Given the description of an element on the screen output the (x, y) to click on. 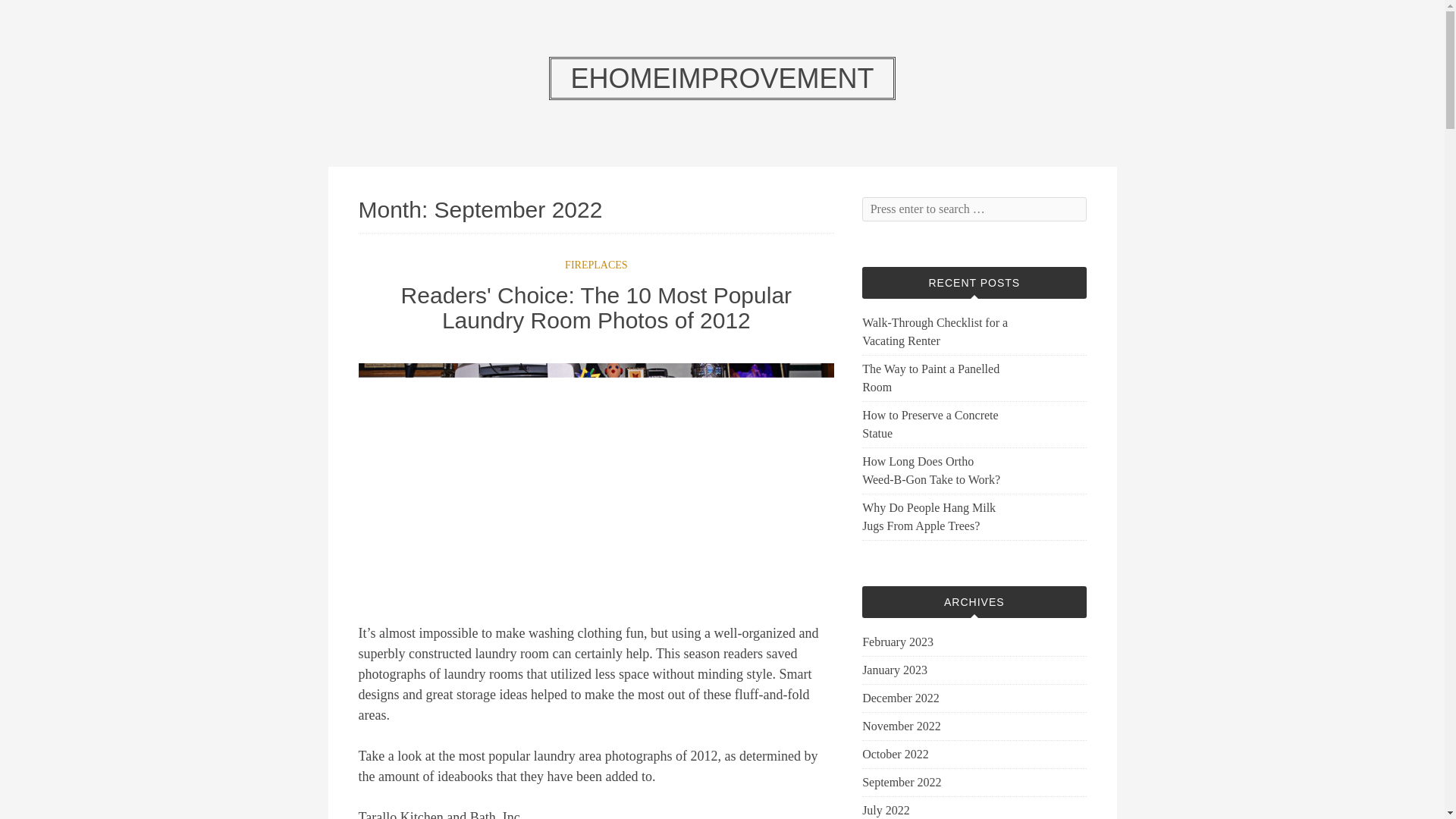
February 2023 (897, 642)
EHOMEIMPROVEMENT (721, 77)
Search for: (973, 209)
The Way to Paint a Panelled Room (934, 378)
July 2022 (885, 810)
FIREPLACES (595, 265)
How to Preserve a Concrete Statue (934, 424)
January 2023 (894, 669)
Walk-Through Checklist for a Vacating Renter (934, 331)
November 2022 (900, 726)
